Given the description of an element on the screen output the (x, y) to click on. 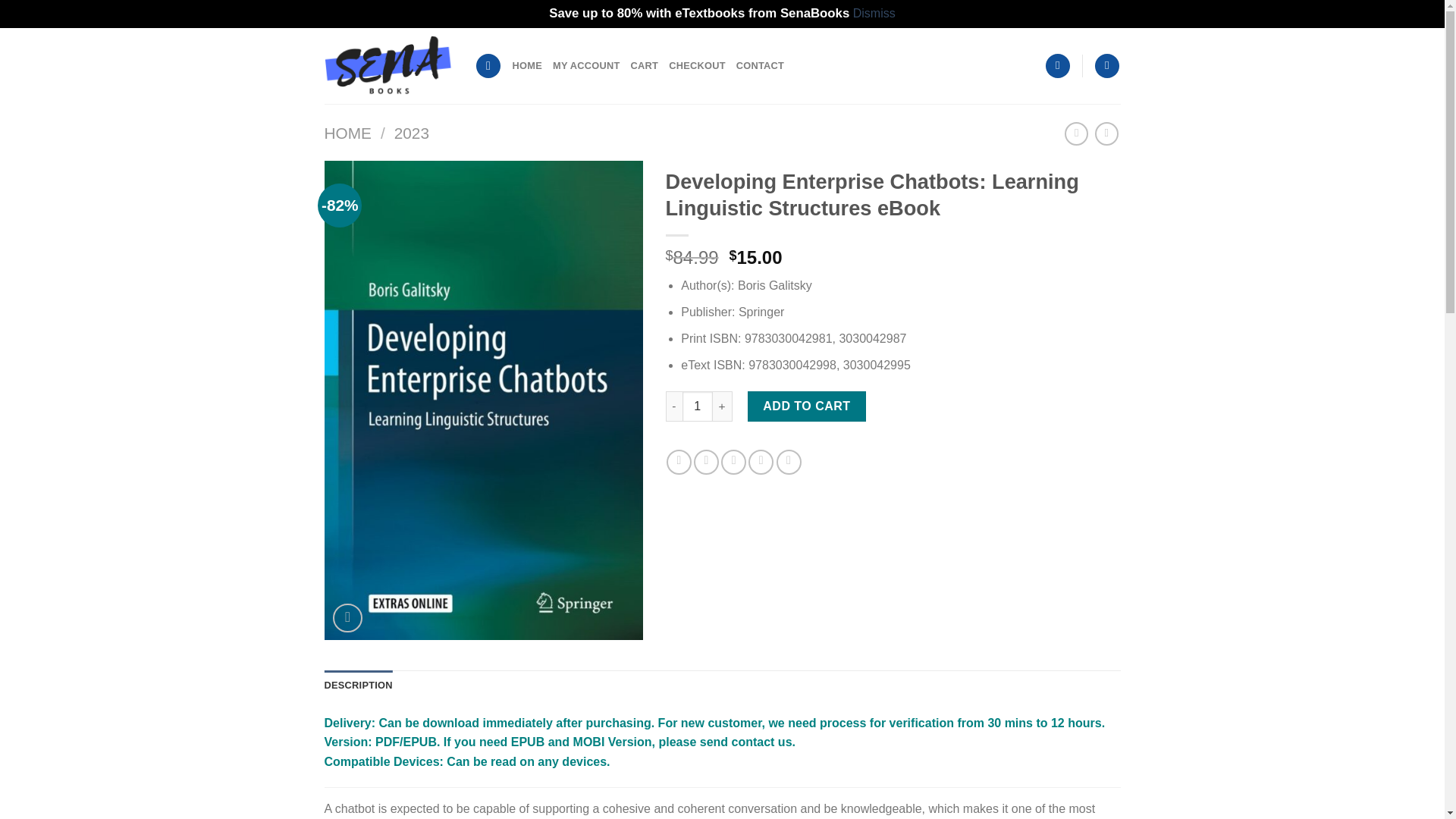
1 (697, 406)
Zoom (347, 618)
HOME (526, 65)
ADD TO CART (807, 406)
MY ACCOUNT (586, 65)
Email to a Friend (732, 462)
Cart (1106, 66)
Share on LinkedIn (789, 462)
Share on Facebook (678, 462)
Dismiss (874, 12)
